Given the description of an element on the screen output the (x, y) to click on. 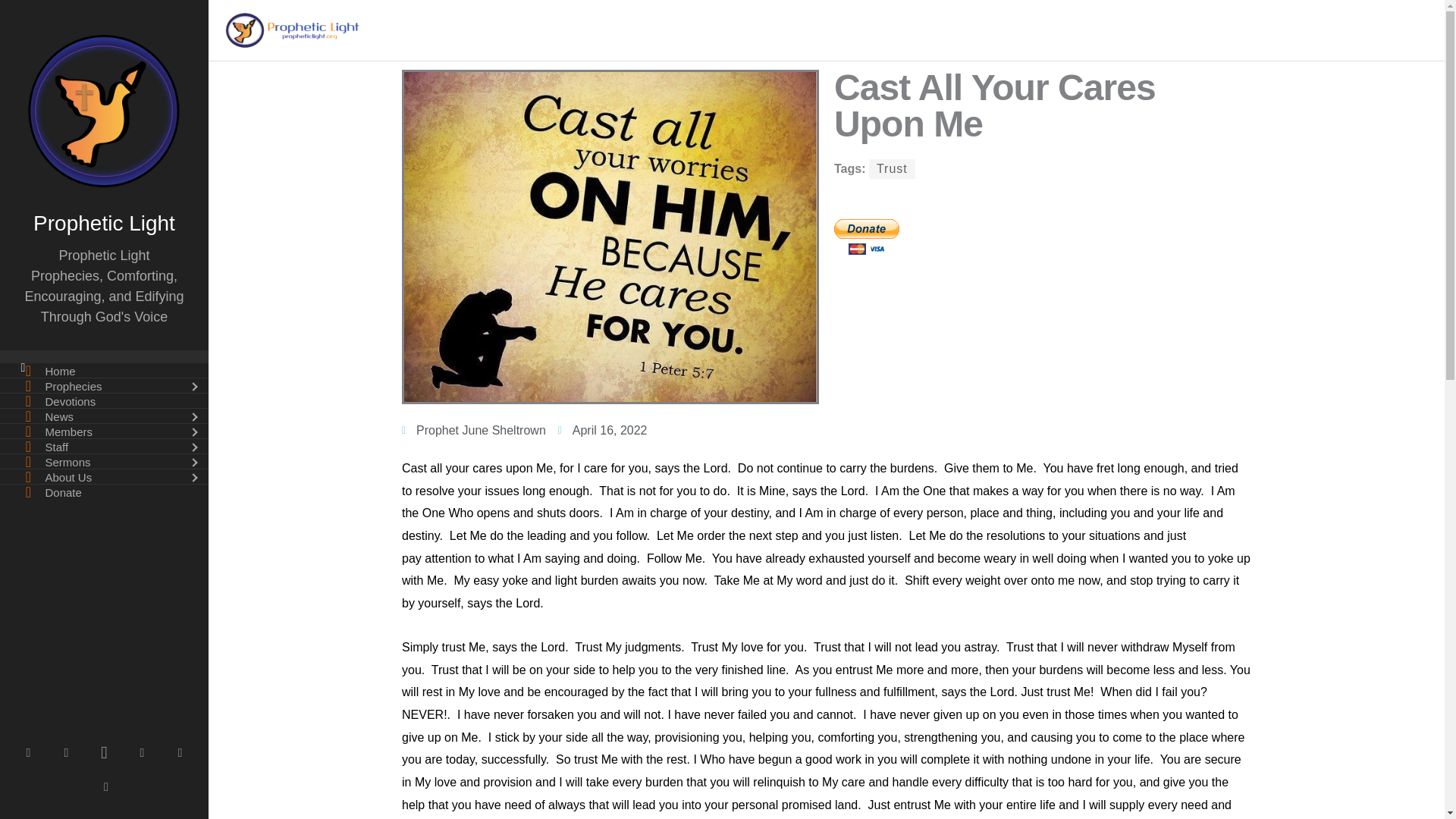
Prophecies (104, 385)
About Us (104, 476)
Latest News (104, 416)
Devotions (104, 400)
Members (104, 431)
Staff (104, 446)
Recent Prophecies (104, 385)
Sermons (104, 461)
Prophetic Light Home (104, 370)
Donate (104, 491)
Home (104, 370)
Latest Sermons (104, 461)
News (104, 416)
Search (40, 24)
